Given the description of an element on the screen output the (x, y) to click on. 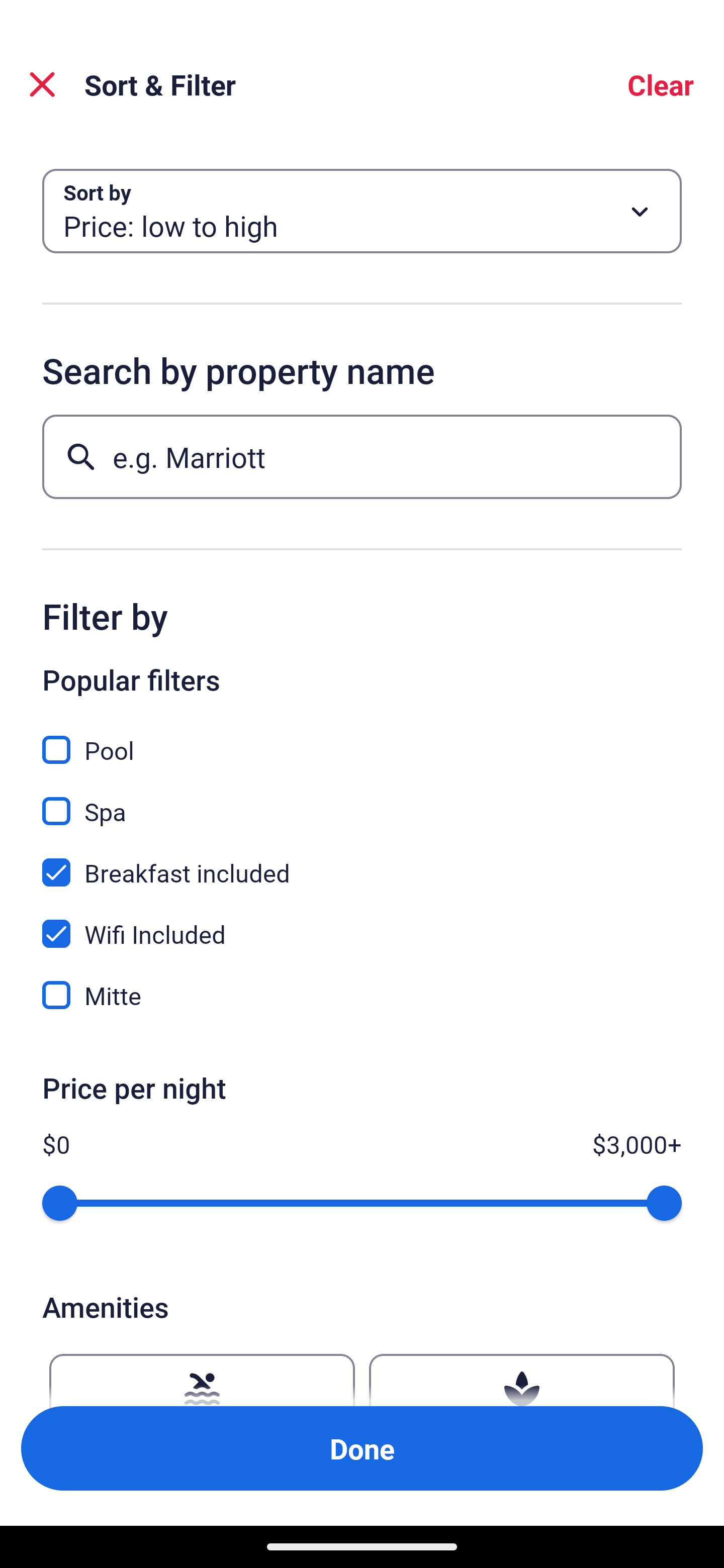
Close Sort and Filter (42, 84)
Clear (660, 84)
Sort by Button Price: low to high (361, 211)
e.g. Marriott Button (361, 455)
Pool, Pool (361, 738)
Spa, Spa (361, 800)
Breakfast included, Breakfast included (361, 861)
Wifi Included, Wifi Included (361, 922)
Mitte, Mitte (361, 995)
Apply and close Sort and Filter Done (361, 1448)
